Given the description of an element on the screen output the (x, y) to click on. 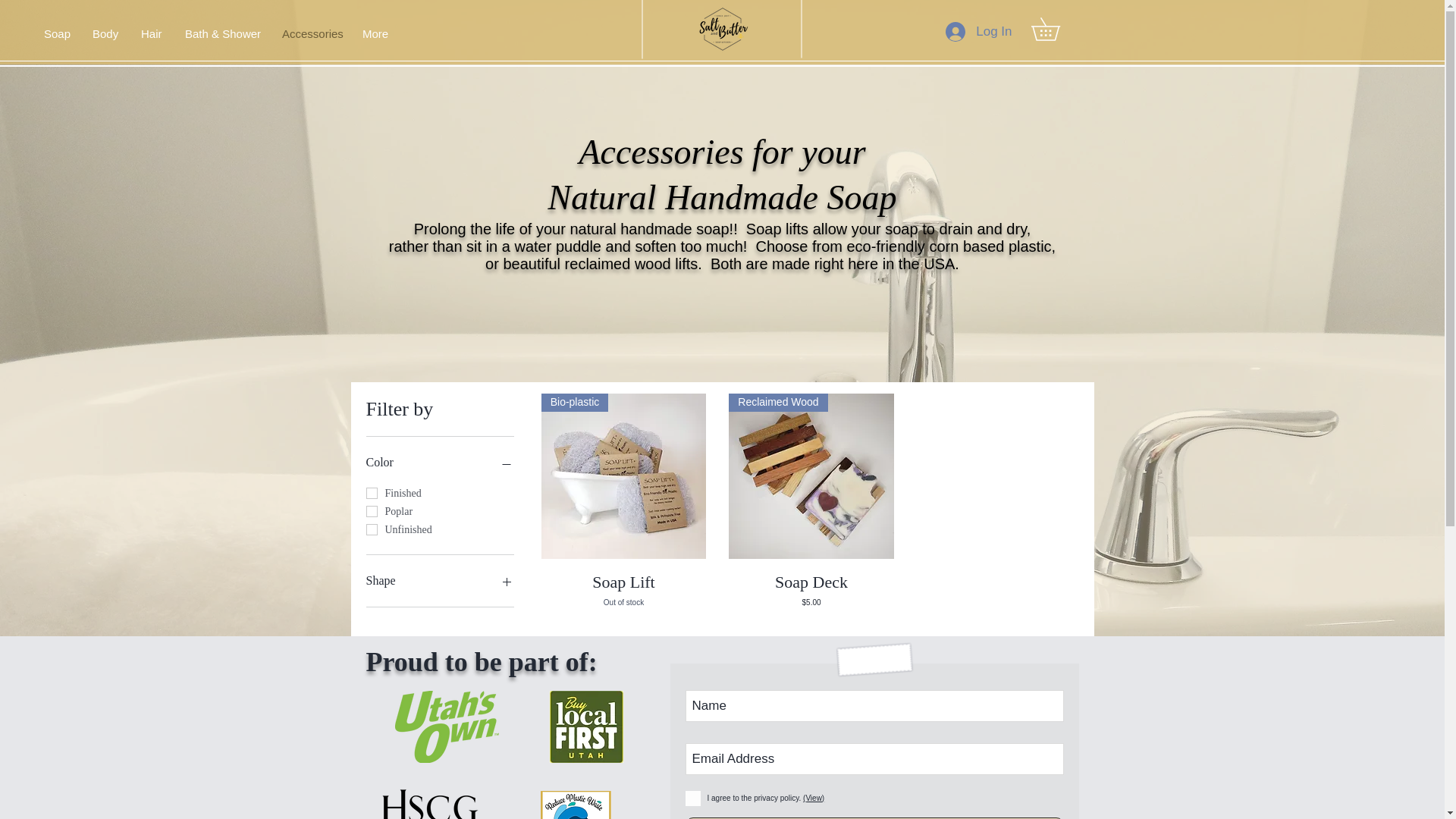
Reclaimed Wood (811, 475)
Shape (439, 580)
Bio-plastic (623, 475)
Accessories (310, 34)
Log In (978, 30)
Color (439, 462)
Hair (151, 34)
